Given the description of an element on the screen output the (x, y) to click on. 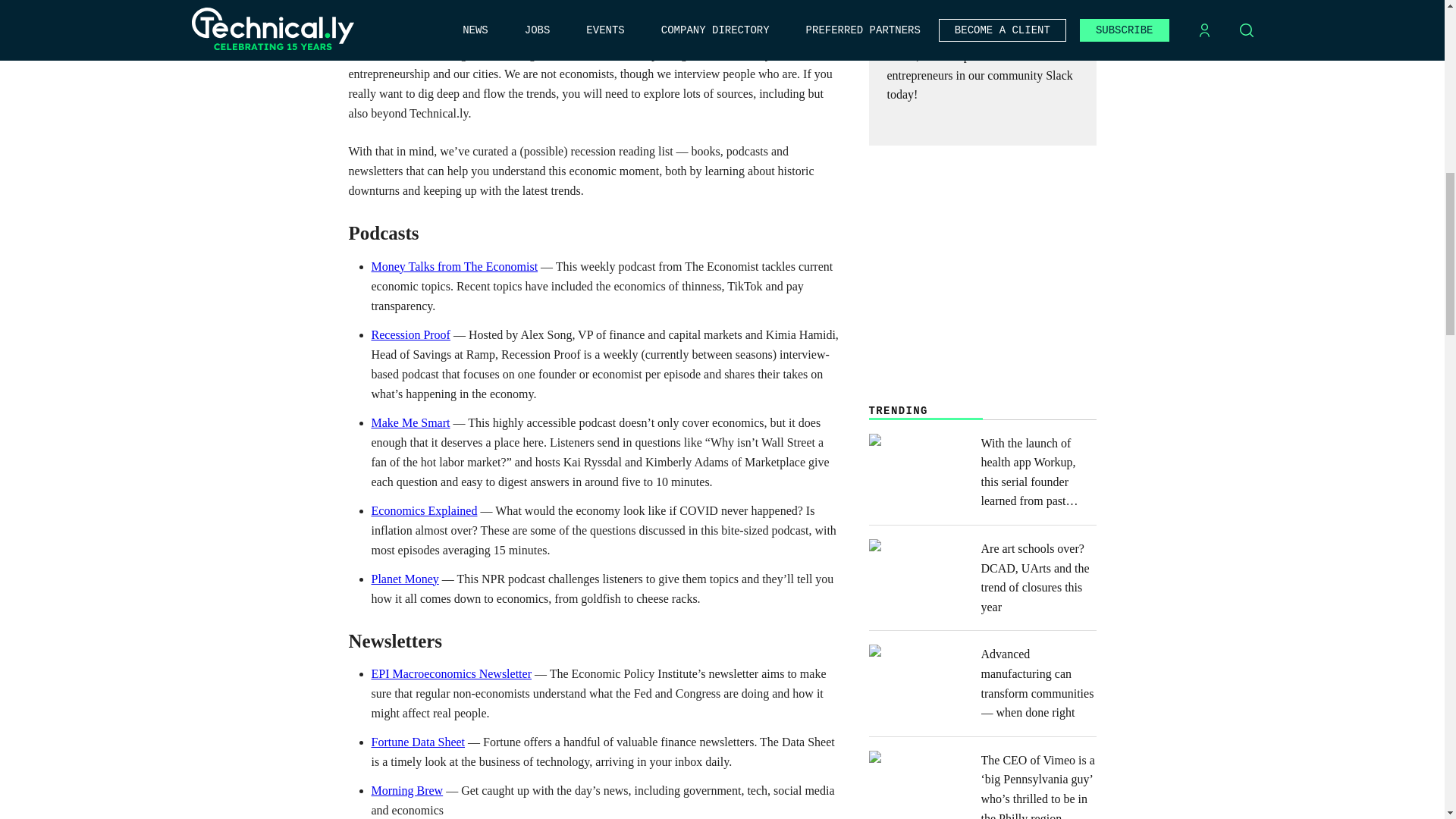
Recession Proof (410, 334)
Planet Money (405, 578)
Morning Brew (407, 789)
Fortune Data Sheet (418, 741)
Make Me Smart (410, 422)
Economics Explained (424, 510)
Money Talks from The Economist (454, 266)
editorial calendar (708, 33)
EPI Macroeconomics Newsletter (451, 673)
